Given the description of an element on the screen output the (x, y) to click on. 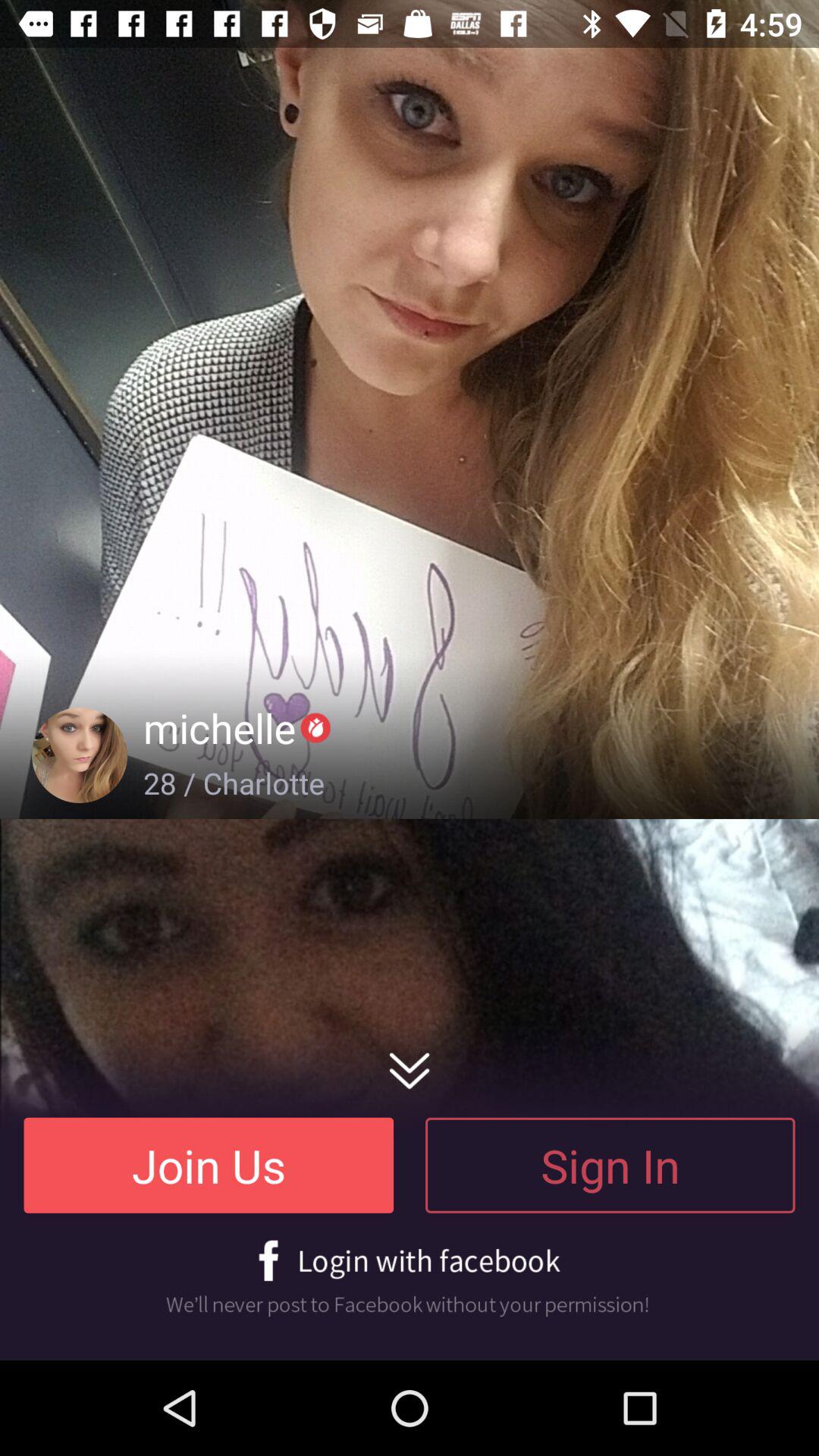
launch the item to the right of the join us item (610, 1165)
